Given the description of an element on the screen output the (x, y) to click on. 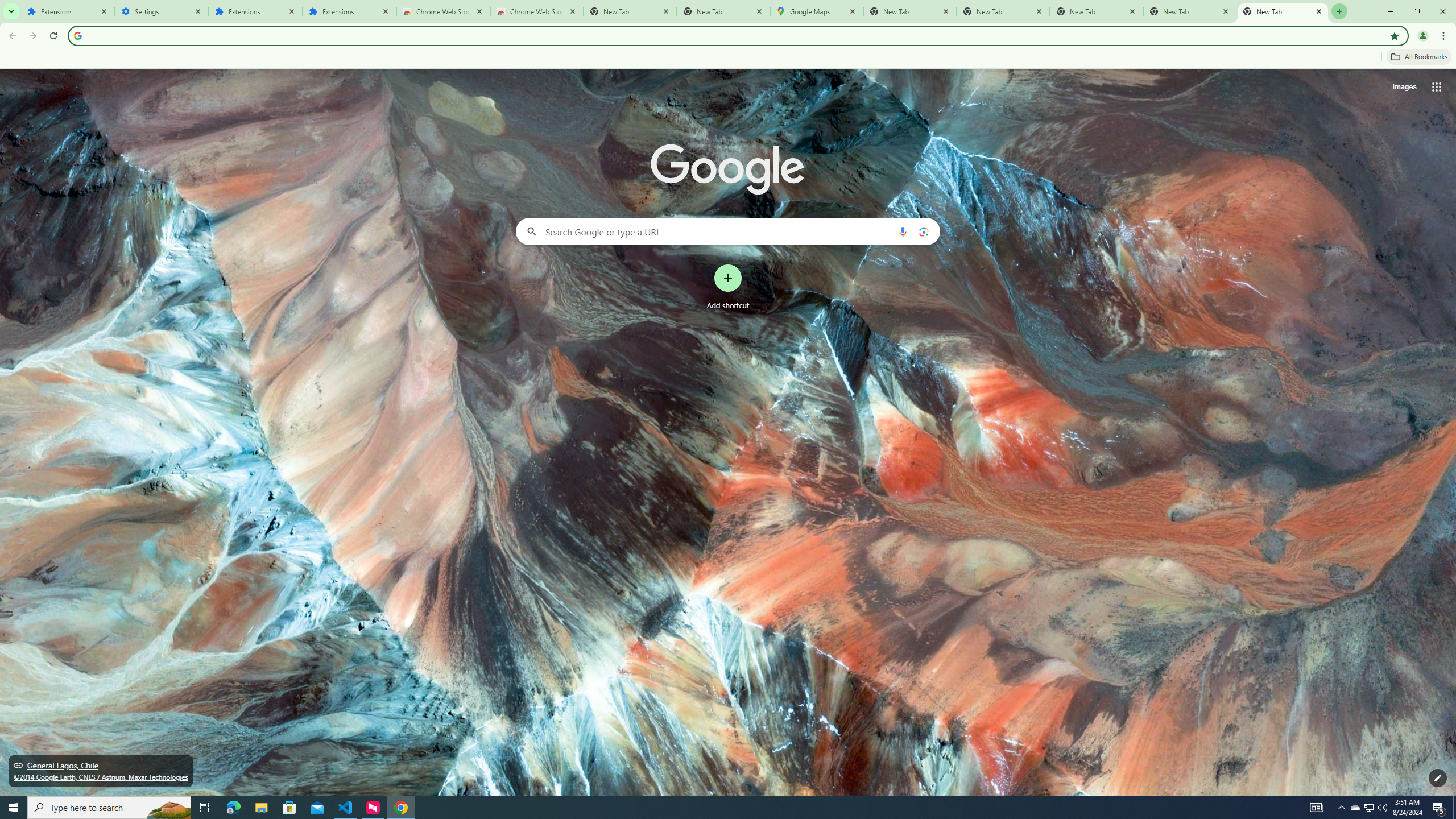
Google Maps (815, 11)
Add shortcut (727, 287)
Chrome Web Store (443, 11)
New Tab (1096, 11)
New Tab (1283, 11)
Search Google or type a URL (727, 230)
Customize this page (1437, 778)
